Given the description of an element on the screen output the (x, y) to click on. 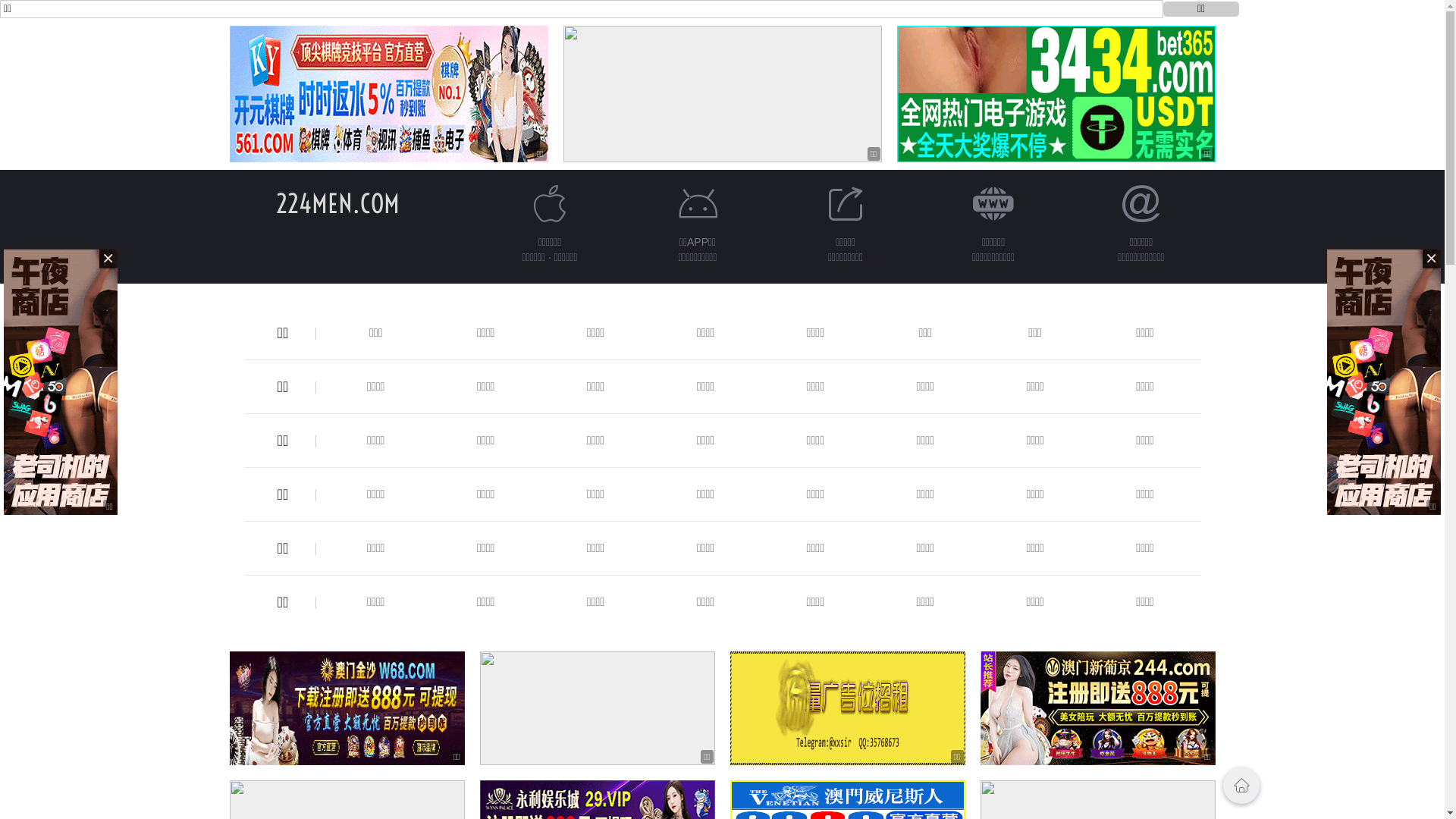
224MEN.COM Element type: text (337, 203)
